Given the description of an element on the screen output the (x, y) to click on. 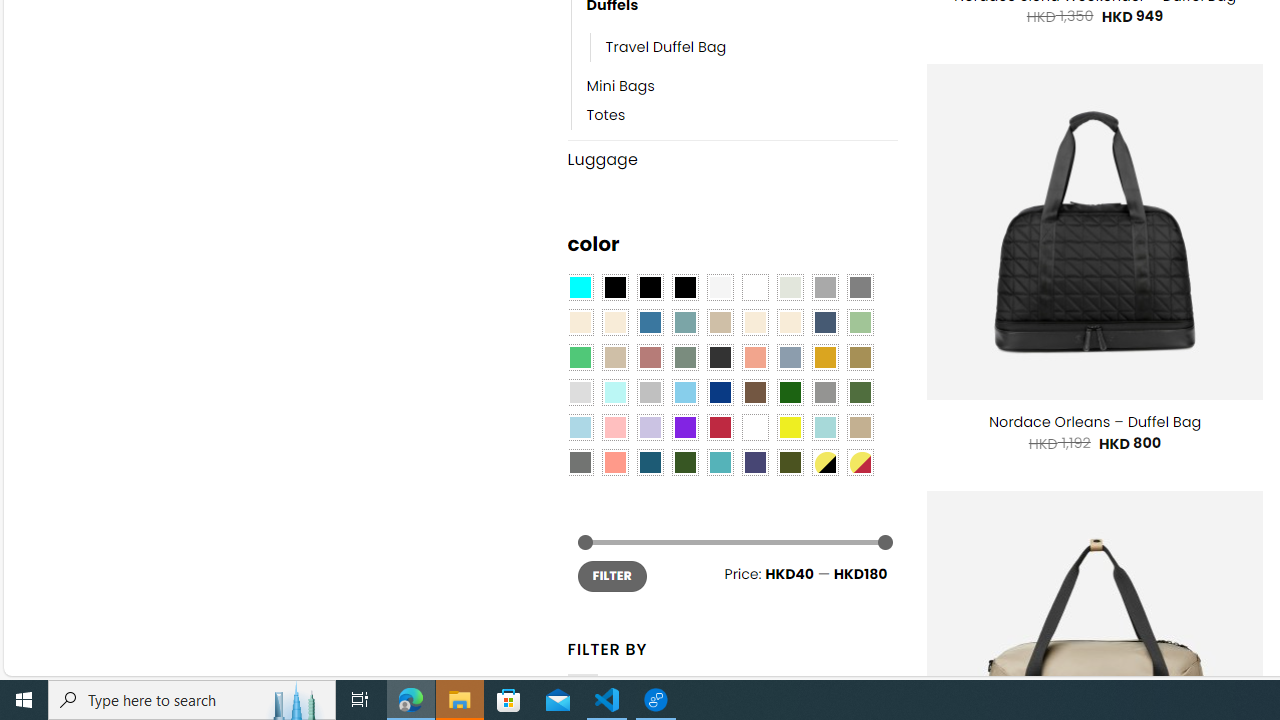
Hale Navy (824, 323)
Beige (579, 323)
Travel Duffel Bag (753, 48)
Kelp (859, 357)
Dark Green (789, 393)
Sky Blue (684, 393)
FILTER (612, 575)
Yellow-Red (859, 462)
Pink (614, 427)
Silver (650, 393)
Aqua (824, 427)
Clear (755, 287)
Light Purple (650, 427)
Purple (684, 427)
Totes (742, 115)
